Given the description of an element on the screen output the (x, y) to click on. 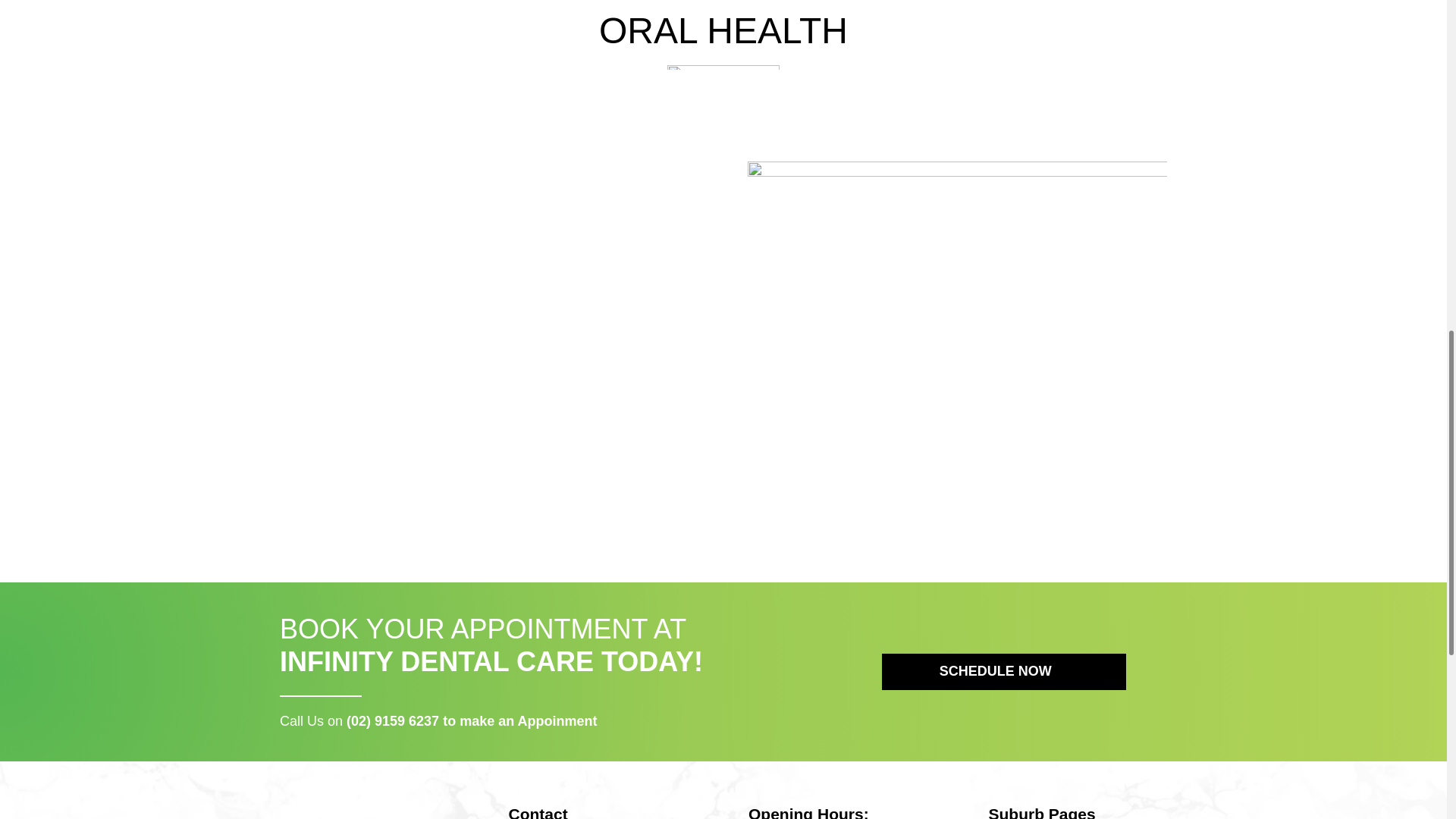
logo (351, 812)
border-bottom (722, 67)
